Given the description of an element on the screen output the (x, y) to click on. 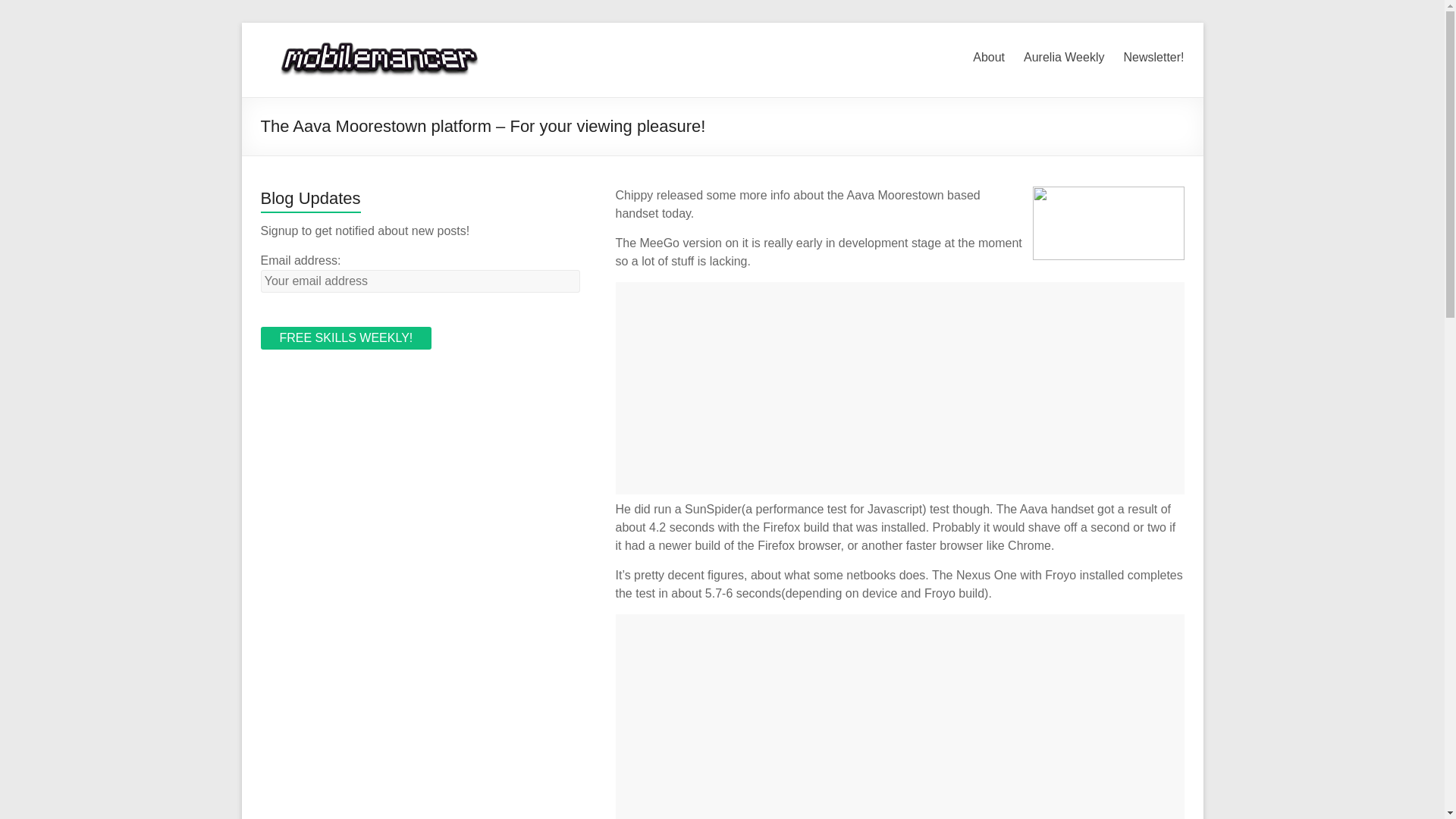
mobilemancer (383, 41)
FREE SKILLS WEEKLY! (346, 337)
Aurelia Weekly (1063, 54)
Advertisement (900, 387)
Advertisement (900, 716)
FREE SKILLS WEEKLY! (346, 337)
About (988, 54)
Newsletter! (1152, 54)
